Given the description of an element on the screen output the (x, y) to click on. 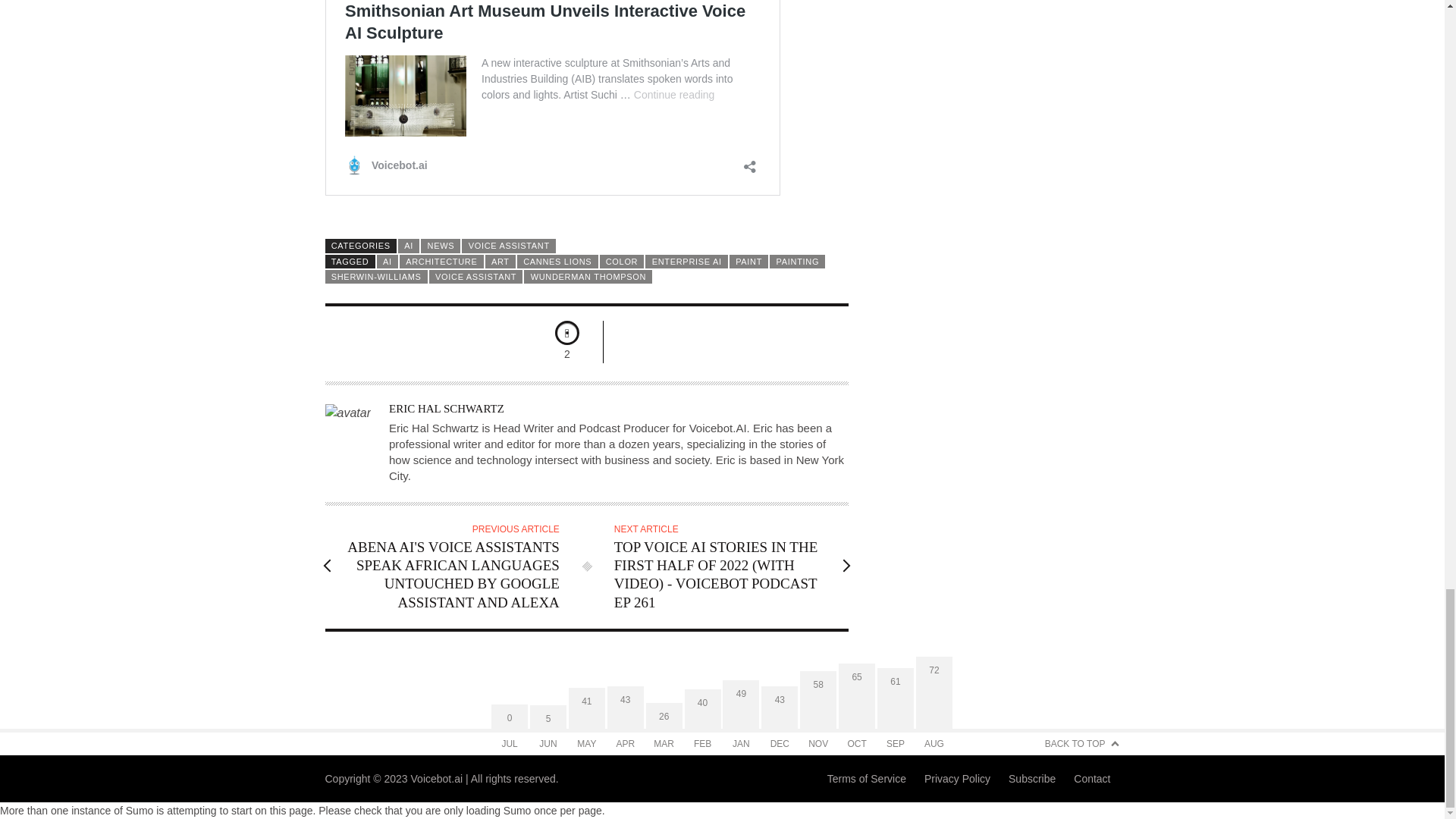
View all posts in News (440, 245)
View all posts tagged architecture (440, 261)
View all posts tagged Cannes Lions (557, 261)
View all posts tagged art (499, 261)
View all posts tagged paint (748, 261)
View all posts tagged AI (387, 261)
View all posts tagged Enterprise AI (685, 261)
View all posts in AI (408, 245)
View all posts in Voice Assistant (508, 245)
View all posts tagged color (620, 261)
